Given the description of an element on the screen output the (x, y) to click on. 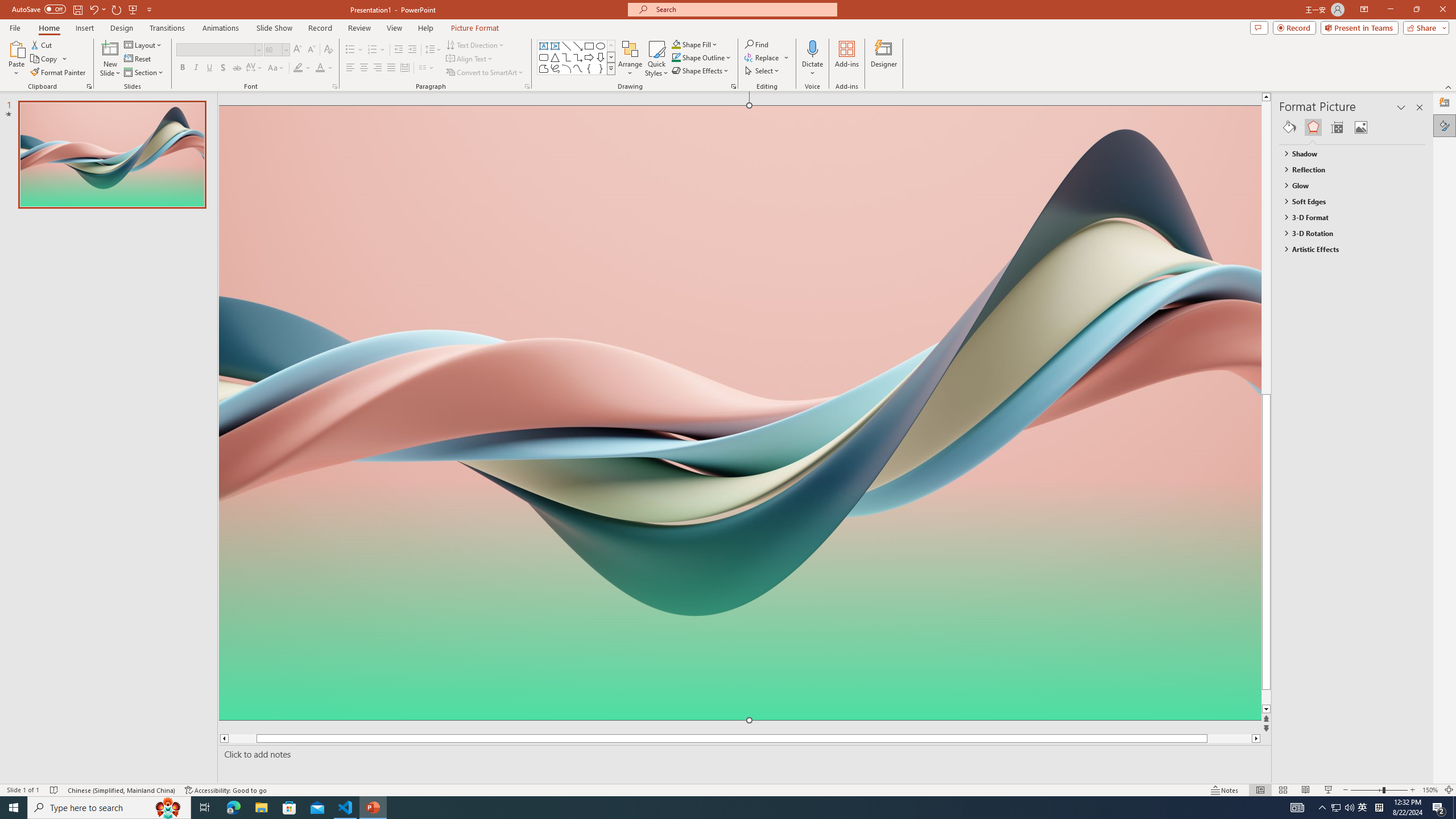
Zoom (1379, 790)
Shape Outline Blue, Accent 1 (675, 56)
Vertical Text Box (554, 45)
Bullets (349, 49)
Copy (49, 58)
Spell Check No Errors (54, 790)
Character Spacing (254, 67)
Font (219, 49)
Line (566, 45)
Effects (1313, 126)
Font Size (276, 49)
Left Brace (589, 68)
Office Clipboard... (88, 85)
AutomationID: ShapesInsertGallery (576, 57)
More Options (812, 68)
